Given the description of an element on the screen output the (x, y) to click on. 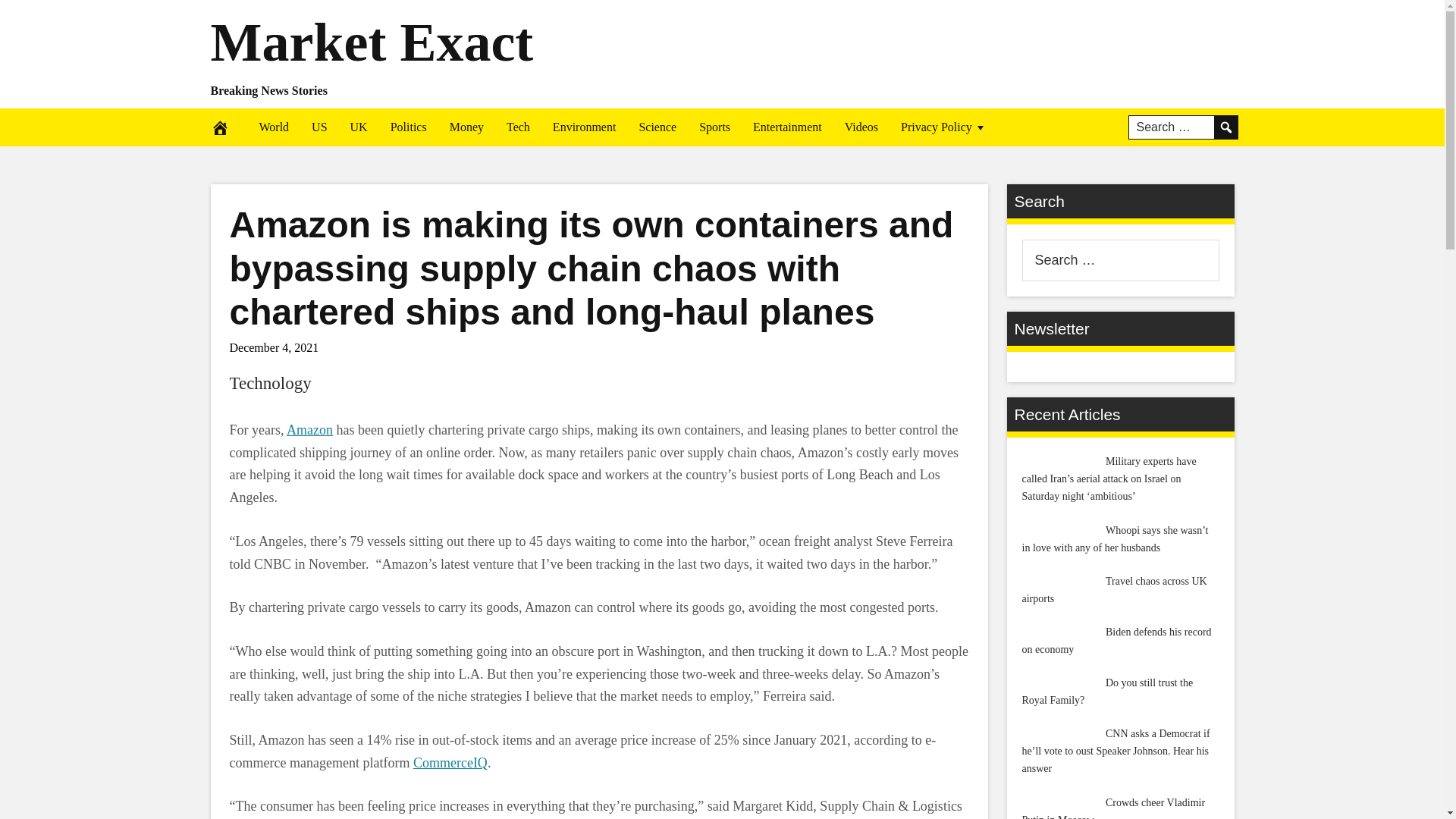
Entertainment (786, 127)
Politics (408, 127)
Market Exact (372, 42)
Environment (584, 127)
Videos (860, 127)
Technology (269, 383)
Science (657, 127)
Tech (518, 127)
World (273, 127)
